Given the description of an element on the screen output the (x, y) to click on. 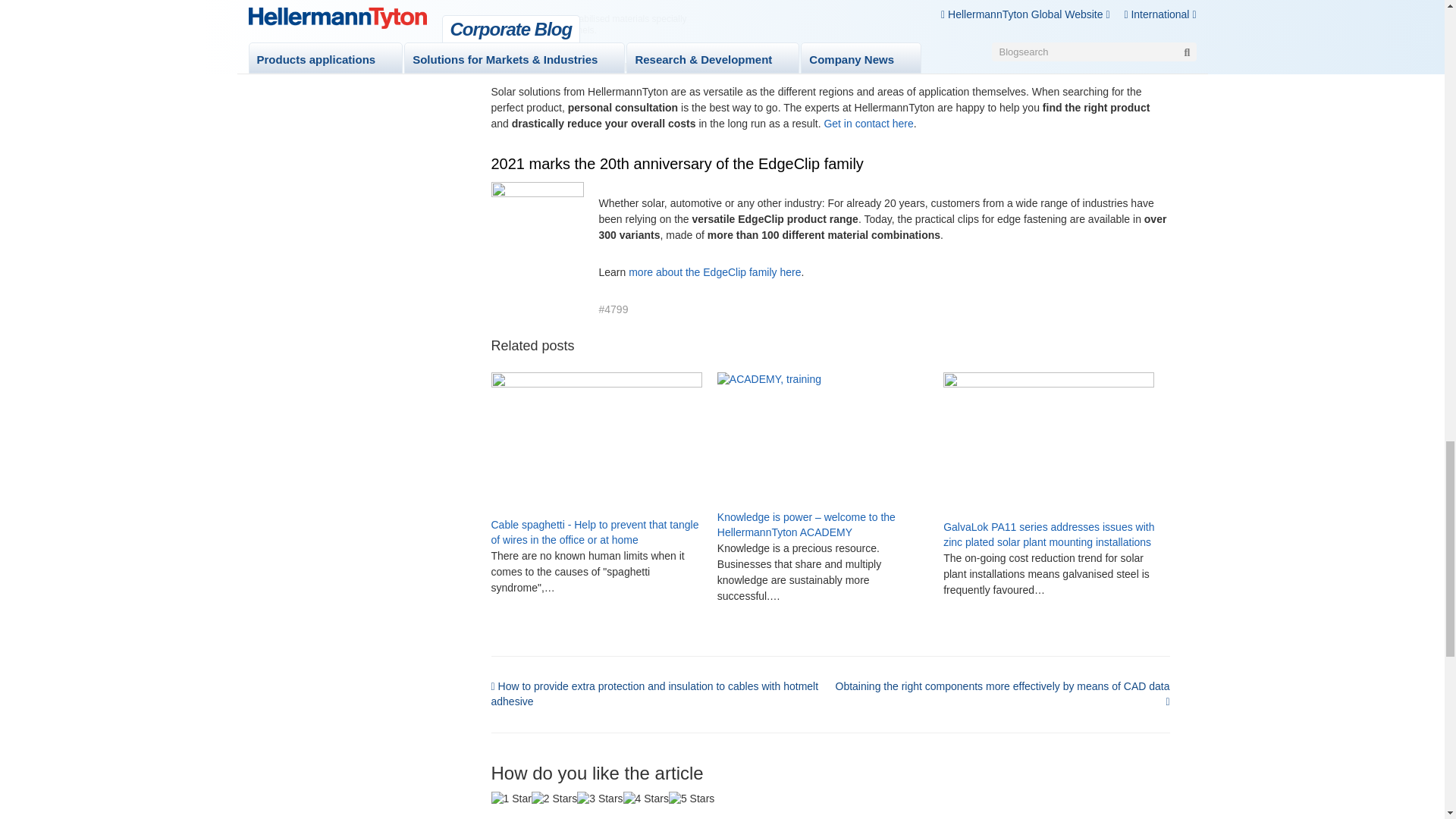
3 Stars (599, 798)
Get in contact here (868, 123)
4 Stars (645, 798)
more about the EdgeClip family here (714, 272)
1 Star (511, 798)
2 Stars (553, 798)
5 Stars (691, 798)
